Given the description of an element on the screen output the (x, y) to click on. 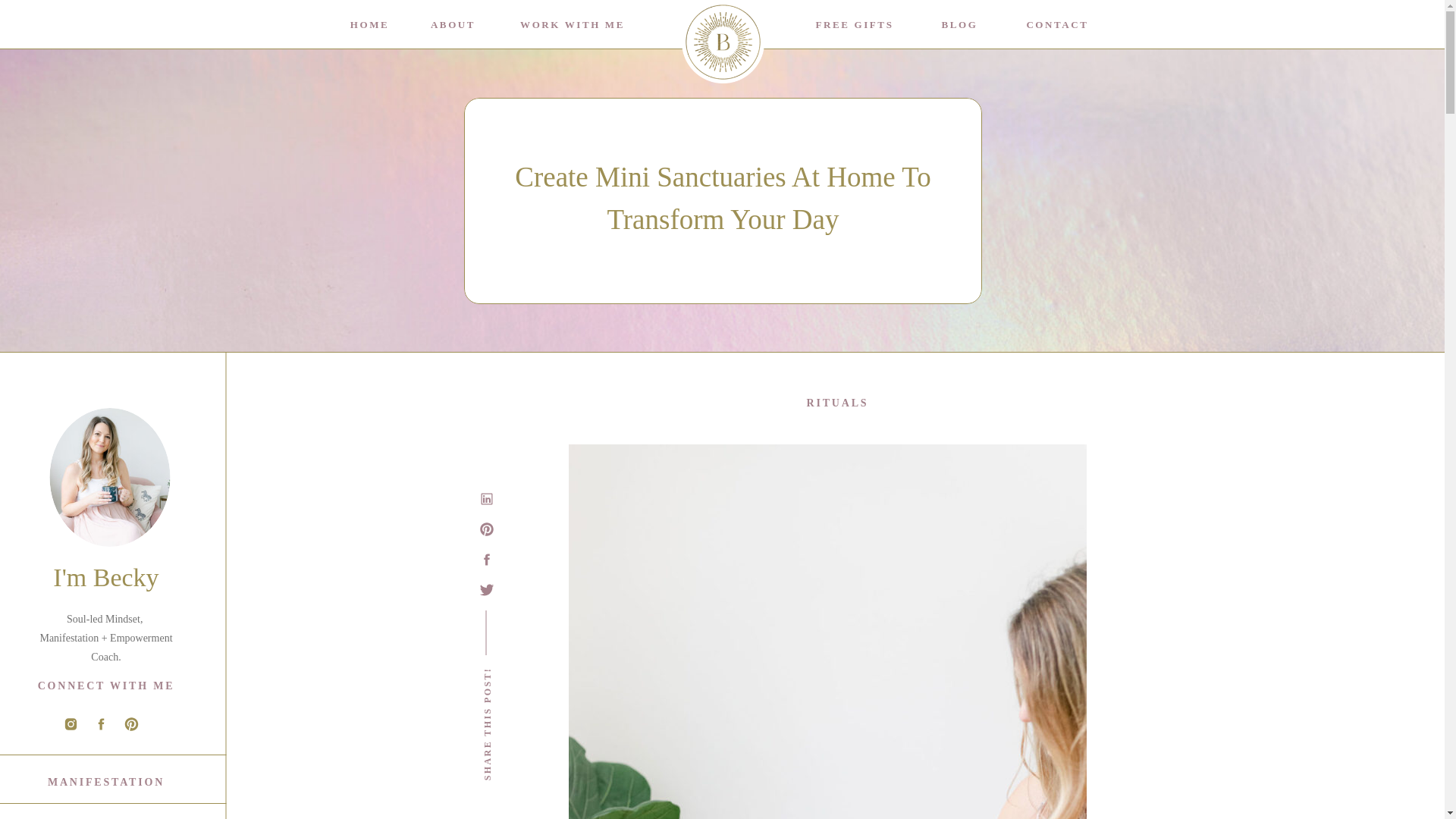
BLOG (959, 24)
HOME (369, 24)
CONTACT (1057, 24)
ABOUT (453, 24)
FREE GIFTS (854, 24)
MANIFESTATION (105, 780)
WORK WITH ME (571, 24)
RITUALS (837, 402)
